Given the description of an element on the screen output the (x, y) to click on. 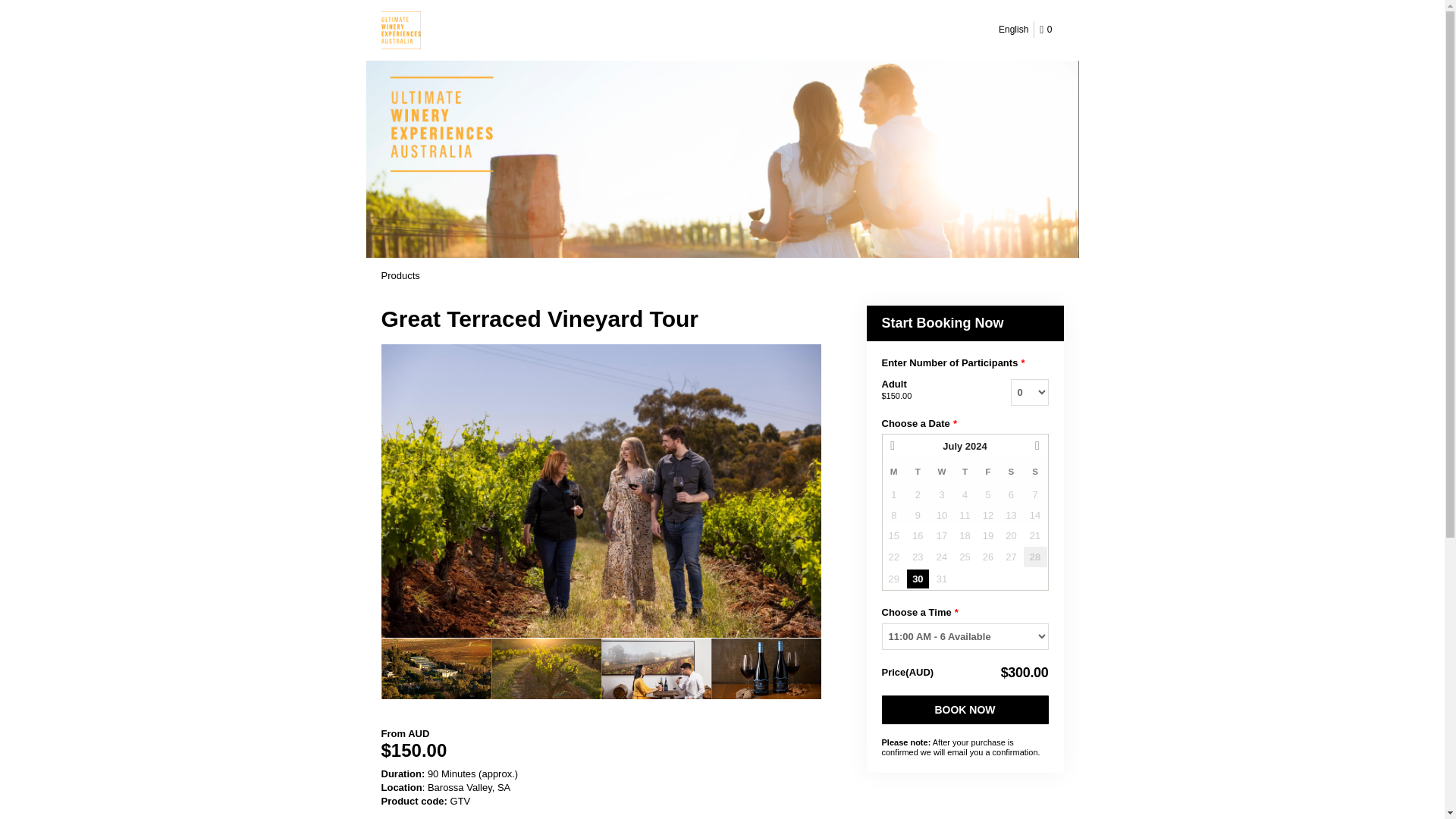
Not available (987, 494)
English (1012, 29)
Not available (1010, 494)
Not available (917, 515)
Not available (893, 515)
Not available (917, 494)
Products (399, 275)
Not available (941, 515)
30 (917, 578)
BOOK NOW (964, 709)
Not available (941, 494)
Not available (893, 494)
Not available (1035, 494)
Not available (964, 515)
Not available (964, 494)
